Given the description of an element on the screen output the (x, y) to click on. 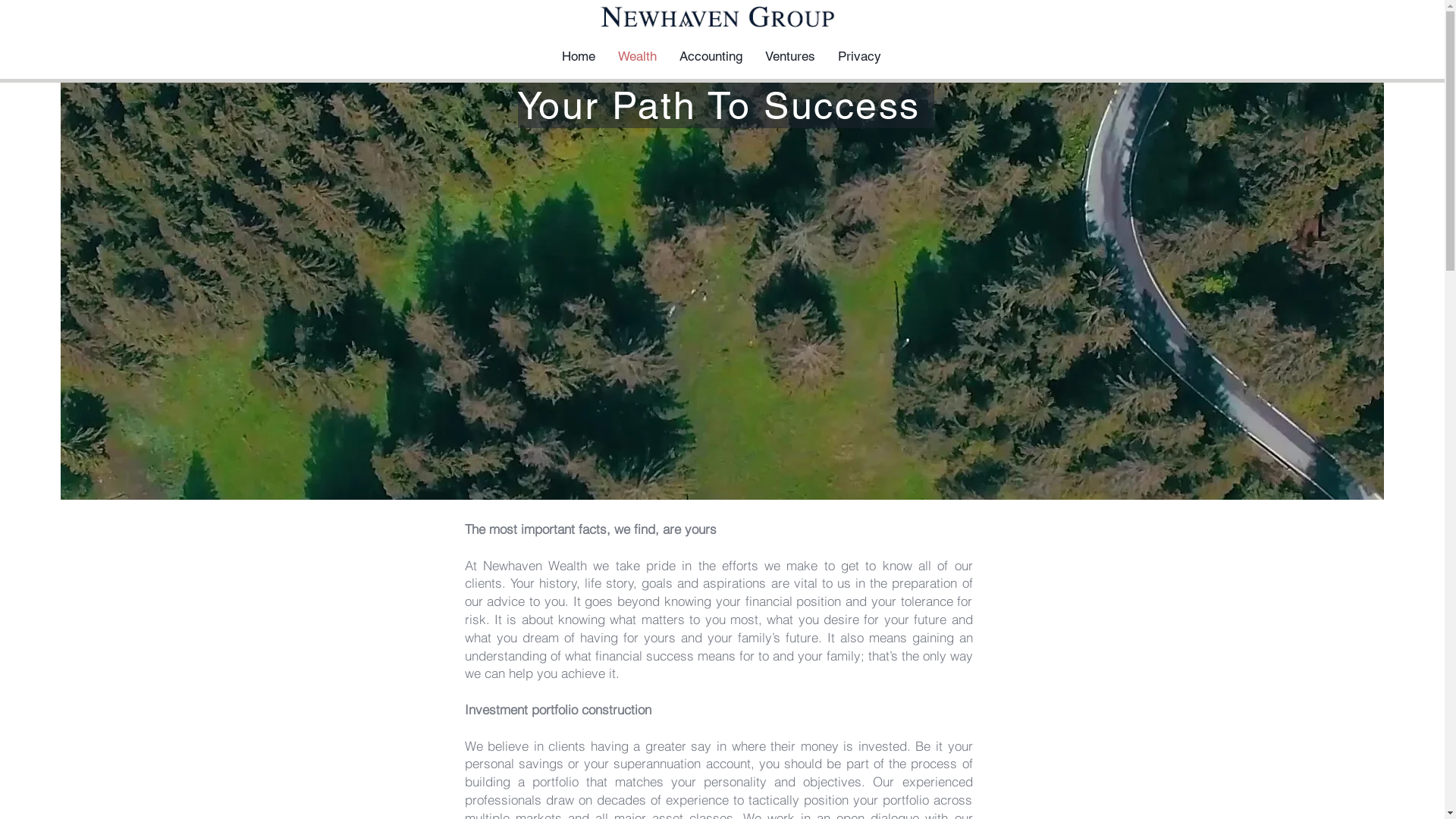
Wealth Element type: text (637, 55)
Home Element type: text (578, 55)
Ventures Element type: text (789, 55)
Privacy Element type: text (859, 55)
Accounting Element type: text (710, 55)
